Given the description of an element on the screen output the (x, y) to click on. 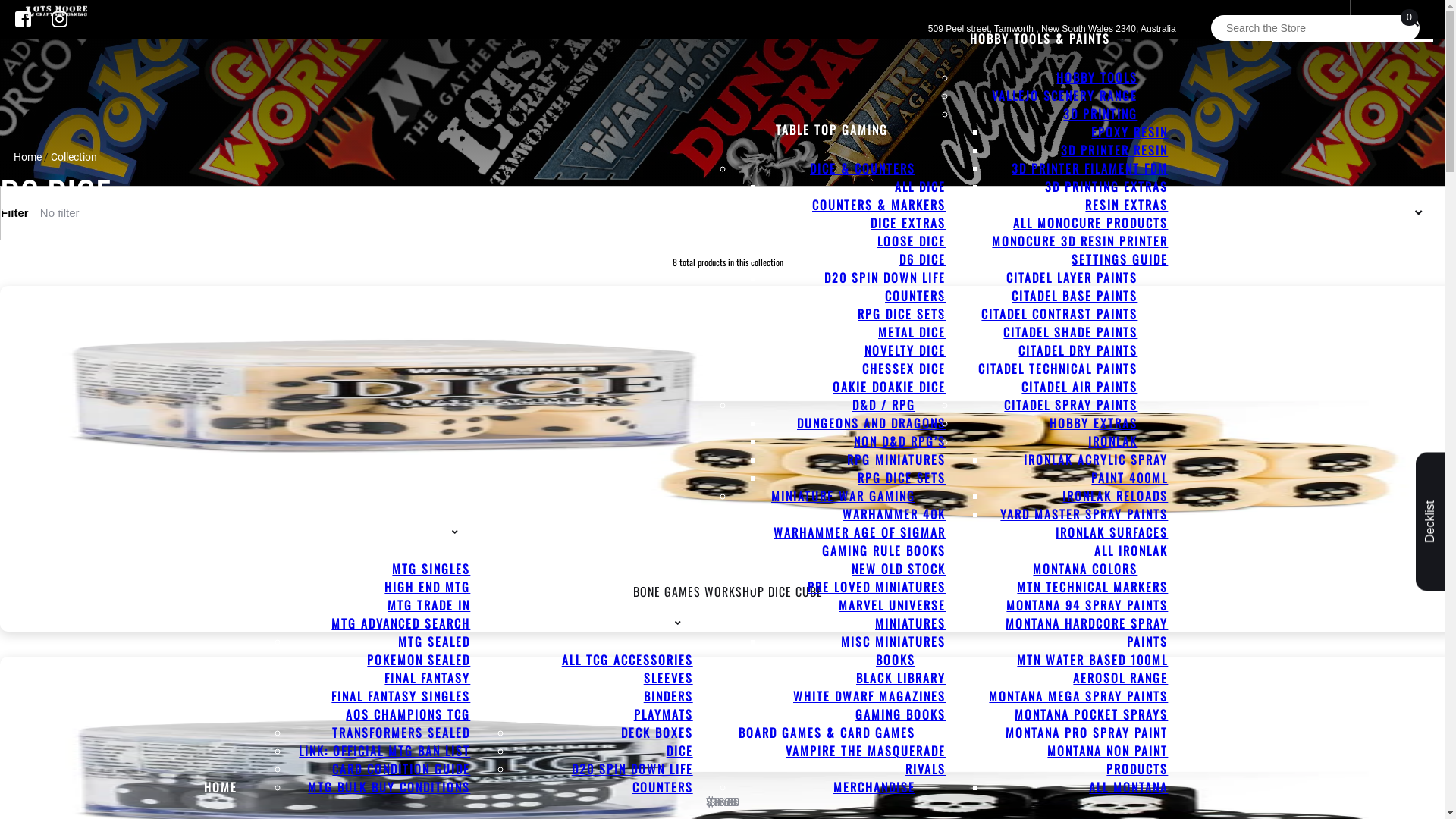
NEW OLD STOCK Element type: text (898, 568)
MINIATURE WAR GAMING Element type: text (843, 495)
CITADEL BASE PAINTS Element type: text (1074, 295)
WARHAMMER AGE OF SIGMAR Element type: text (859, 532)
CARD CONDITION GUIDE Element type: text (401, 768)
NOVELTY DICE Element type: text (904, 350)
GAMING BOOKS Element type: text (900, 714)
BLACK LIBRARY Element type: text (900, 677)
TRANSFORMERS SEALED Element type: text (401, 732)
MTG ADVANCED SEARCH Element type: text (400, 623)
DECK BOXES Element type: text (657, 732)
POKEMON SEALED Element type: text (418, 659)
MONTANA PRO SPRAY PAINT Element type: text (1086, 732)
CITADEL SPRAY PAINTS Element type: text (1070, 404)
MONTANA POCKET SPRAYS Element type: text (1090, 714)
3D PRINTER RESIN Element type: text (1113, 150)
TCG ACCESSORIES Element type: text (620, 620)
MTG SINGLES Element type: text (431, 568)
CITADEL DRY PAINTS Element type: text (1077, 350)
CITADEL SHADE PAINTS Element type: text (1070, 332)
DUNGEONS AND DRAGONS Element type: text (871, 423)
MTG SEALED Element type: text (434, 641)
PLAYMATS Element type: text (663, 714)
MONTANA NON PAINT PRODUCTS Element type: text (1107, 759)
RPG DICE SETS Element type: text (901, 313)
CHESSEX DICE Element type: text (903, 368)
MTN TECHNICAL MARKERS Element type: text (1091, 586)
HOBBY EXTRAS Element type: text (1093, 423)
ALL MONOCURE PRODUCTS Element type: text (1090, 222)
VAMPIRE THE MASQUERADE RIVALS Element type: text (865, 759)
CITADEL CONTRAST PAINTS Element type: text (1059, 313)
MONTANA COLORS Element type: text (1084, 568)
RPG DICE SETS Element type: text (901, 477)
IRONLAK RELOADS Element type: text (1114, 495)
HOME Element type: text (220, 787)
MONTANA HARDCORE SPRAY PAINTS Element type: text (1086, 632)
MTN WATER BASED 100ML AEROSOL RANGE Element type: text (1091, 668)
AOS CHAMPIONS TCG Element type: text (407, 714)
DICE Element type: text (679, 750)
MONTANA MEGA SPRAY PAINTS Element type: text (1077, 696)
3D PRINTER FILAMENT FDM Element type: text (1089, 168)
RESIN EXTRAS Element type: text (1126, 204)
CITADEL AIR PAINTS Element type: text (1079, 386)
MERCHANDISE Element type: text (874, 787)
MARVEL UNIVERSE MINIATURES Element type: text (891, 614)
MISC MINIATURES Element type: text (892, 641)
MTG BULK BUY CONDITIONS Element type: text (388, 787)
IRONLAK SURFACES Element type: text (1111, 532)
ALL IRONLAK Element type: text (1130, 550)
FINAL FANTASY Element type: text (427, 677)
COUNTERS & MARKERS Element type: text (878, 204)
DICE & COUNTERS Element type: text (862, 168)
HOBBY TOOLS & PAINTS Element type: text (1048, 38)
IRONLAK ACRYLIC SPRAY PAINT 400ML Element type: text (1095, 468)
WARHAMMER 40K Element type: text (893, 514)
D&D / RPG Element type: text (883, 404)
BOOKS Element type: text (895, 659)
METAL DICE Element type: text (911, 332)
D6 DICE Element type: text (922, 259)
CITADEL TECHNICAL PAINTS Element type: text (1057, 368)
IRONLAK Element type: text (1112, 441)
MONTANA 94 SPRAY PAINTS Element type: text (1086, 605)
HIGH END MTG Element type: text (427, 586)
VALLEJO SCENERY RANGE Element type: text (1064, 95)
LINK: OFFICIAL MTG BAN LIST Element type: text (384, 750)
CITADEL LAYER PAINTS Element type: text (1071, 277)
509 Peel street, Tamworth , New South Wales 2340, Australia Element type: text (1069, 28)
Home Element type: text (27, 156)
MONOCURE 3D RESIN PRINTER SETTINGS GUIDE Element type: text (1079, 250)
3D PRINTING EXTRAS Element type: text (1105, 186)
TRADING CARD GAMES Element type: text (386, 529)
D20 SPIN DOWN LIFE COUNTERS Element type: text (632, 777)
BOARD GAMES & CARD GAMES Element type: text (826, 732)
GAMING RULE BOOKS Element type: text (883, 550)
BINDERS Element type: text (668, 696)
TABLE TOP GAMING Element type: text (839, 129)
MTG TRADE IN Element type: text (428, 605)
YARD MASTER SPRAY PAINTS Element type: text (1083, 514)
WHITE DWARF MAGAZINES Element type: text (869, 696)
FINAL FANTASY SINGLES Element type: text (400, 696)
HOBBY TOOLS Element type: text (1096, 77)
DICE EXTRAS Element type: text (907, 222)
ALL MONTANA Element type: text (1127, 787)
RPG MINIATURES Element type: text (896, 459)
D20 SPIN DOWN LIFE COUNTERS Element type: text (884, 286)
ALL DICE Element type: text (919, 186)
OAKIE DOAKIE DICE Element type: text (888, 386)
SLEEVES Element type: text (668, 677)
3D PRINTING Element type: text (1100, 113)
EPOXY RESIN Element type: text (1129, 131)
LOOSE DICE Element type: text (911, 241)
ALL TCG ACCESSORIES Element type: text (627, 659)
PRE LOVED MINIATURES Element type: text (876, 586)
